Given the description of an element on the screen output the (x, y) to click on. 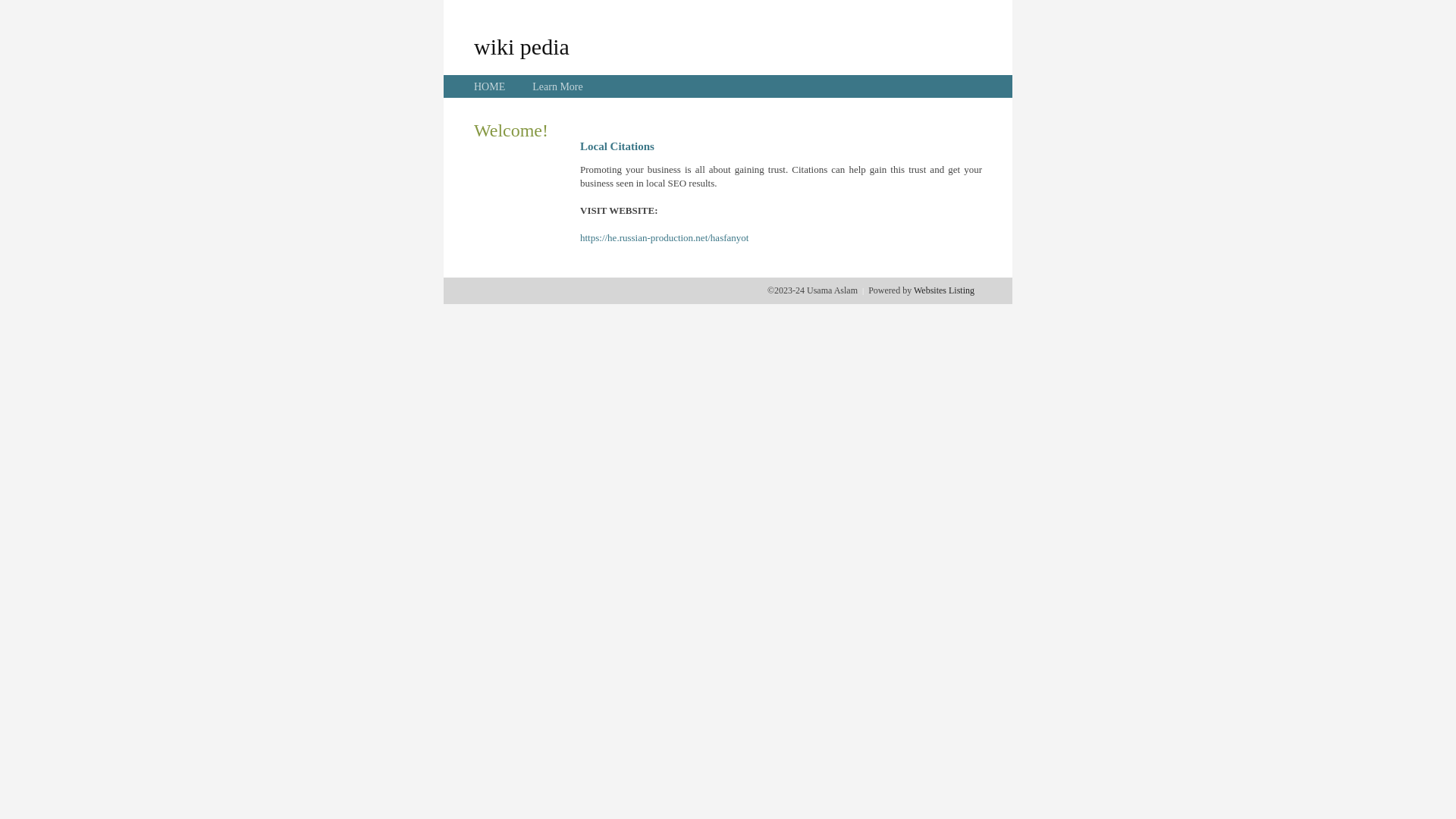
wiki pedia Element type: text (521, 46)
Learn More Element type: text (557, 86)
HOME Element type: text (489, 86)
https://he.russian-production.net/hasfanyot Element type: text (664, 237)
Websites Listing Element type: text (943, 290)
